Given the description of an element on the screen output the (x, y) to click on. 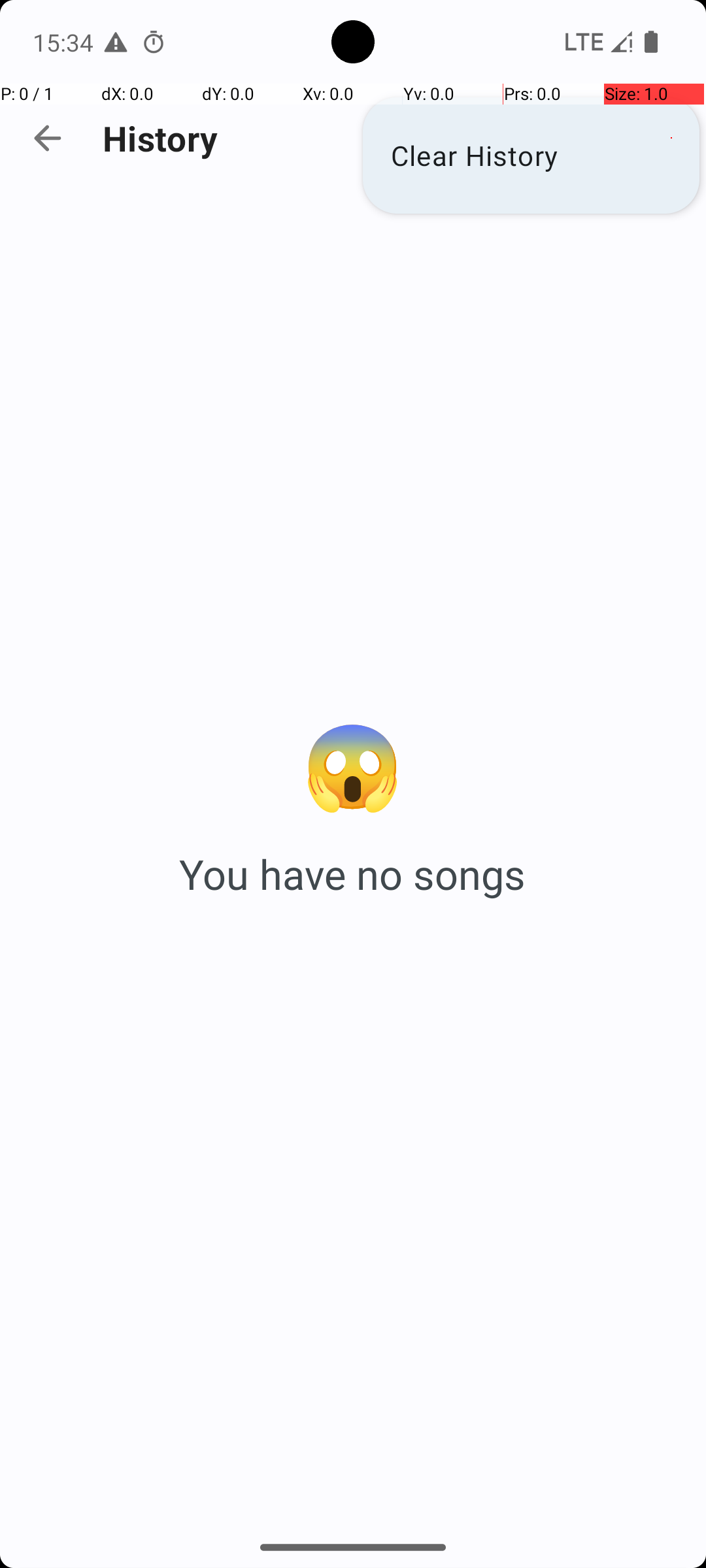
Clear History Element type: android.widget.TextView (531, 154)
